Given the description of an element on the screen output the (x, y) to click on. 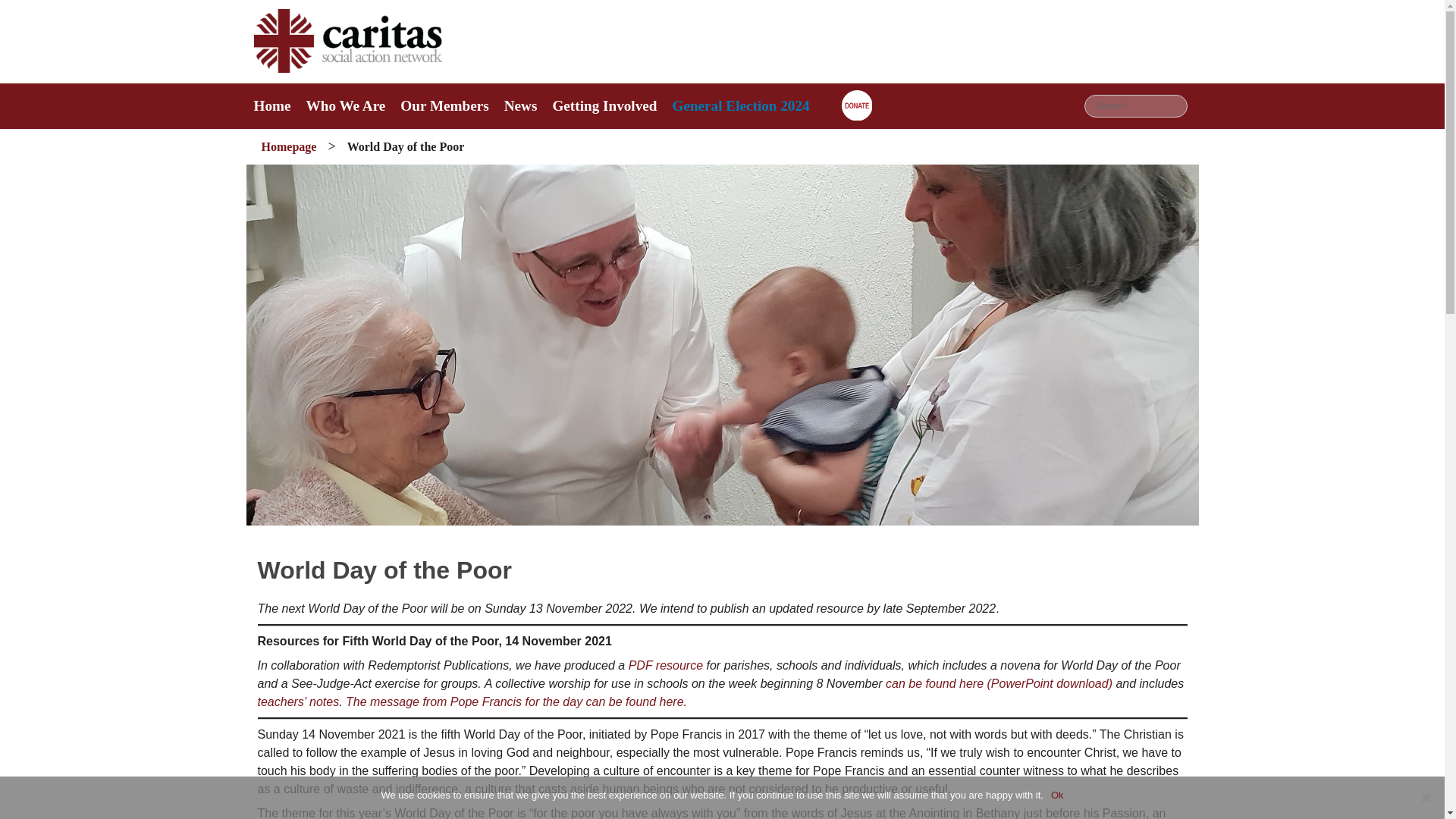
No (1425, 797)
Caritas Social Action Network logo and Home link (347, 68)
Caritas Social Action Network logo and Home link (271, 105)
Home (271, 105)
Search (1136, 106)
News (520, 106)
Our Members (444, 106)
Homepage (287, 145)
